Given the description of an element on the screen output the (x, y) to click on. 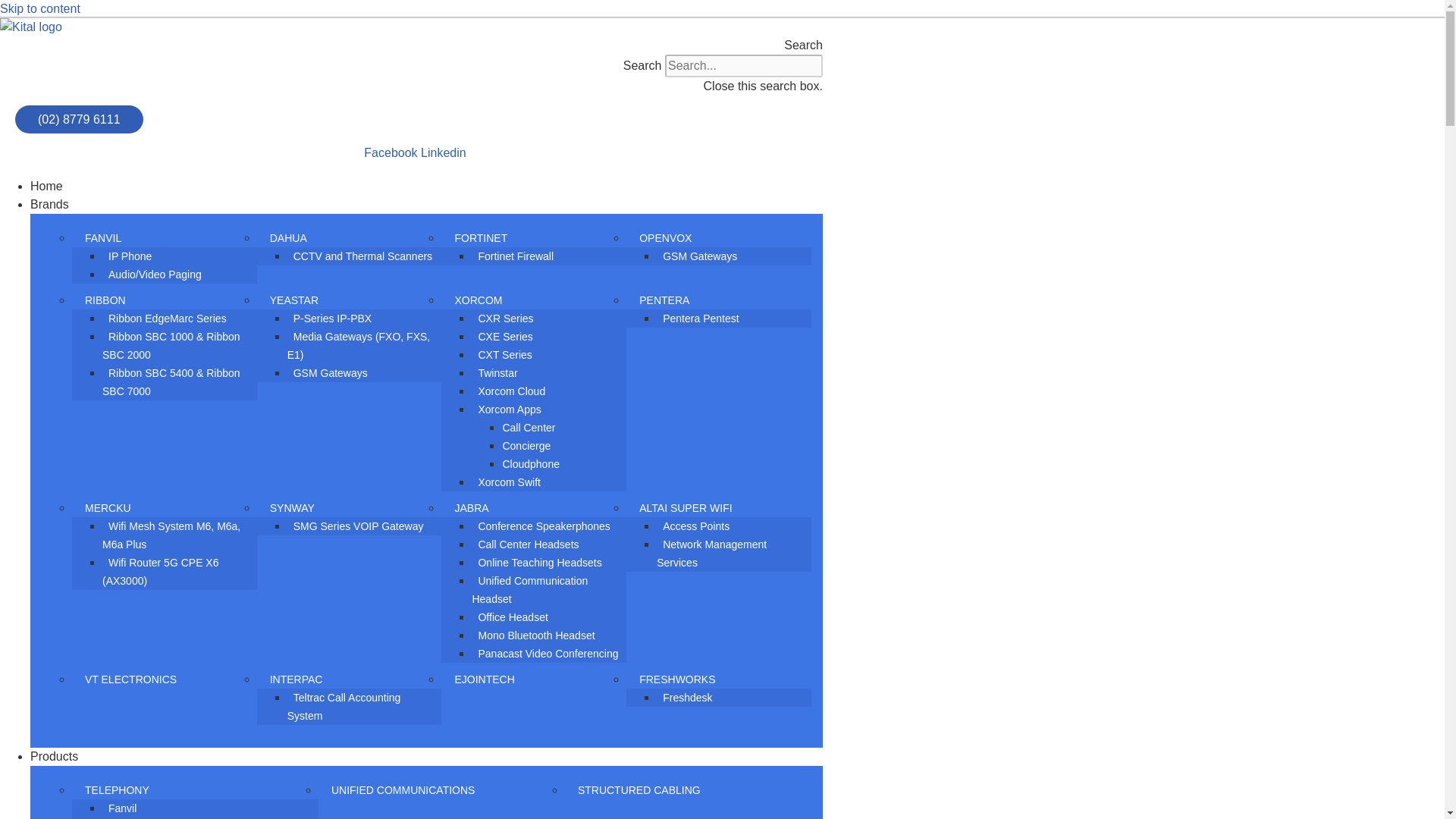
GSM Gateways (330, 372)
Call Center (528, 427)
RIBBON (104, 299)
IP Phone (129, 256)
OPENVOX (665, 237)
Brands (426, 204)
Home (426, 186)
Linkedin (442, 152)
Skip to content (40, 8)
Xorcom Swift (508, 482)
